Given the description of an element on the screen output the (x, y) to click on. 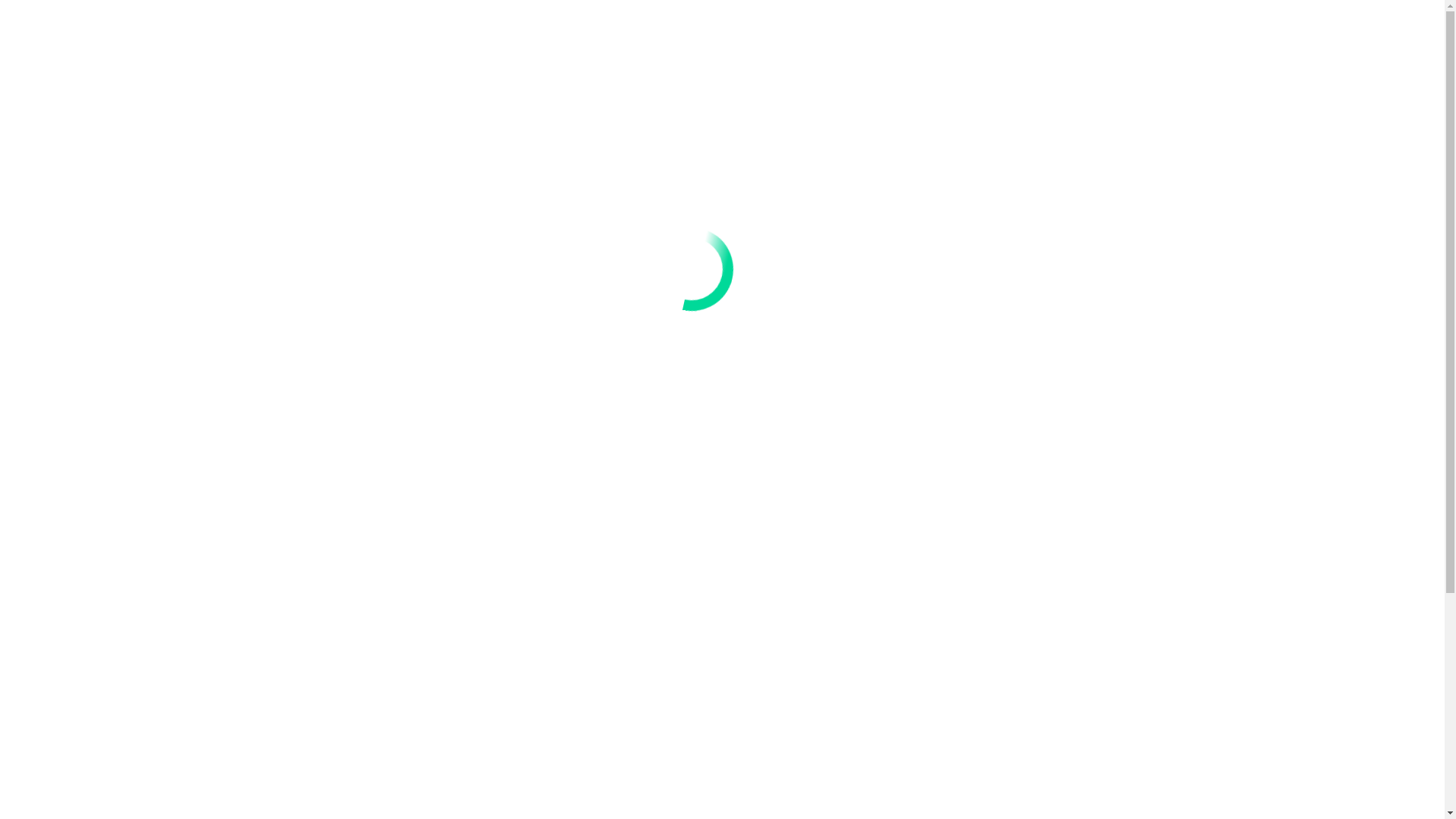
Rechercher Element type: text (1137, 38)
404 Element type: text (1057, 37)
homepage Element type: text (873, 618)
HOME Element type: text (997, 37)
